Given the description of an element on the screen output the (x, y) to click on. 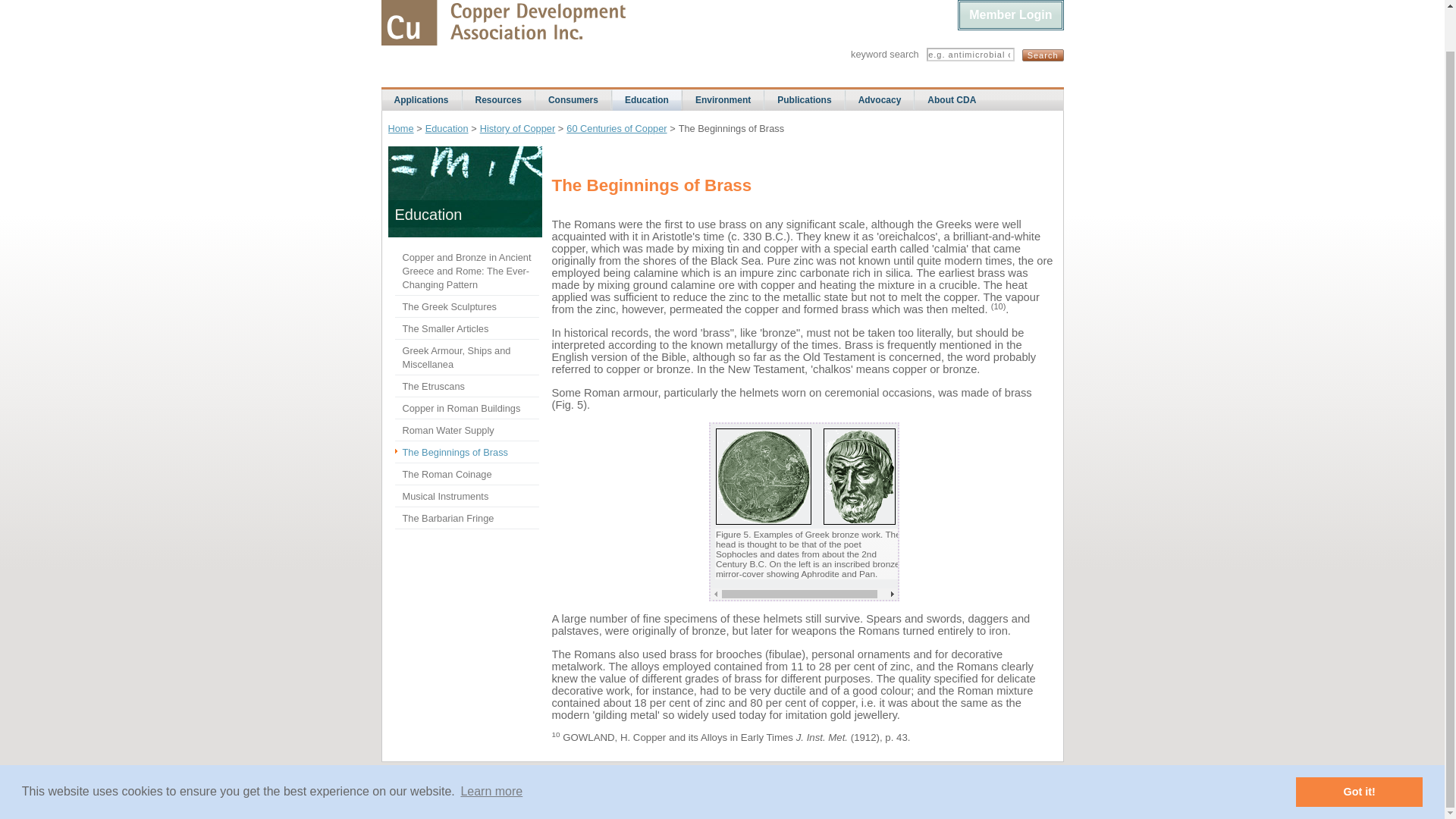
Copper and CDA publications (804, 99)
Got it! (1358, 748)
Learn more (491, 748)
Search (1043, 55)
Applications of Copper and Copper Alloys (421, 99)
Copper and the Environment (722, 99)
Copper.org homepage (502, 22)
Applications (421, 99)
Copper resources for consumers (572, 99)
Copper and Copper-related resources (498, 99)
Search (1043, 55)
Search (1043, 55)
Member Login (1010, 15)
CDA Advocacy (879, 99)
Copper resources for education and teaching (647, 104)
